Given the description of an element on the screen output the (x, y) to click on. 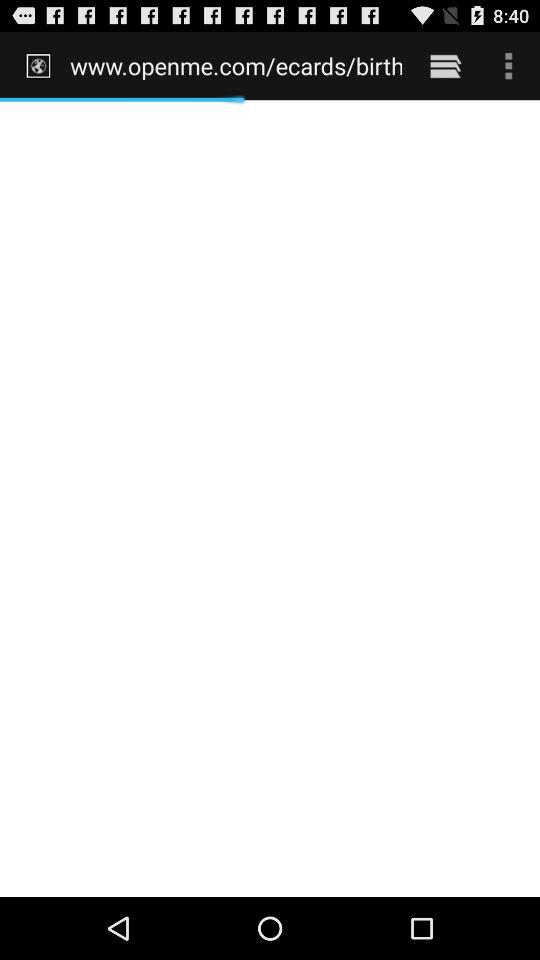
launch www openme com (235, 65)
